Given the description of an element on the screen output the (x, y) to click on. 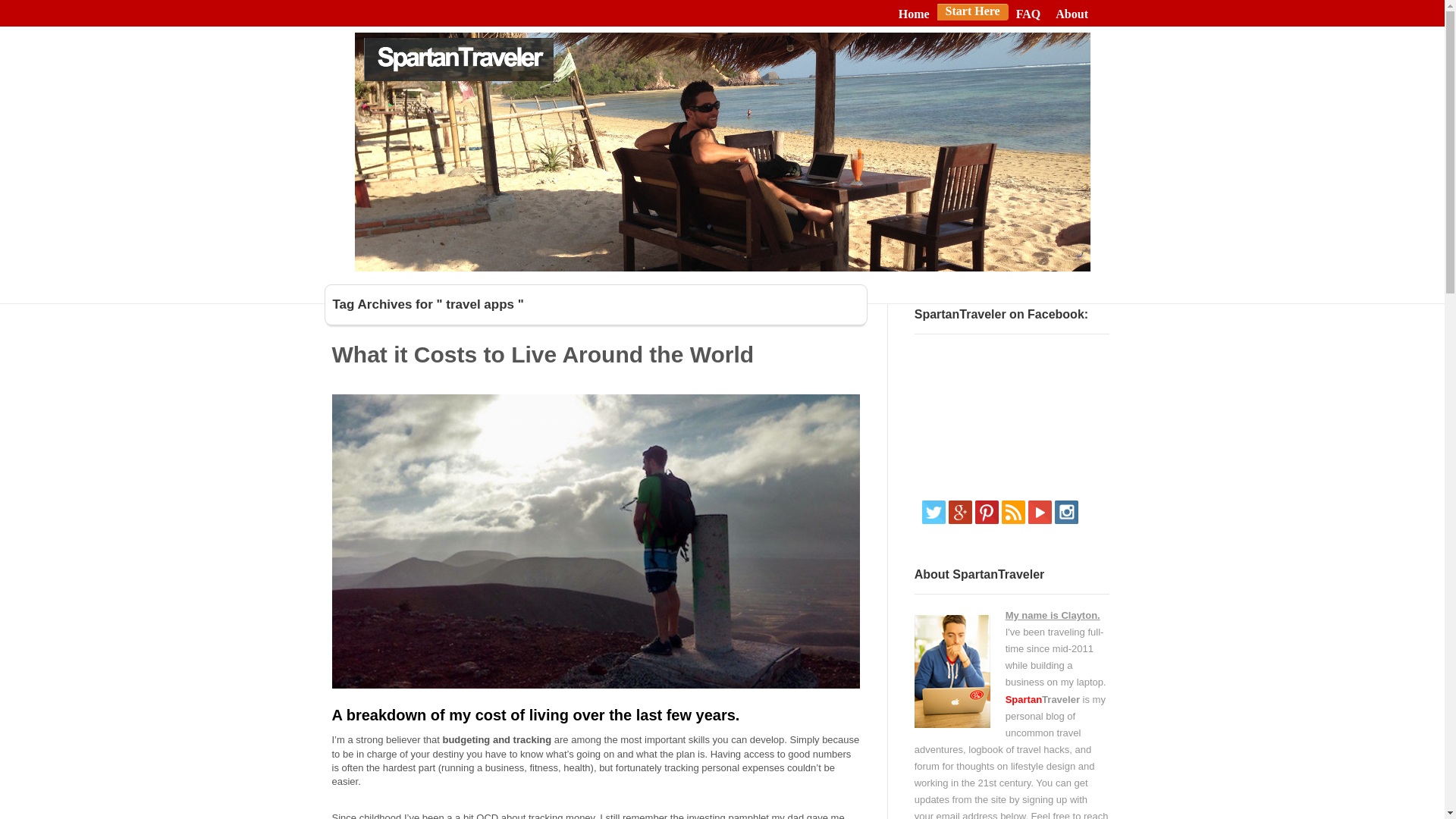
Home (914, 14)
What it Costs to Live Around the World (542, 354)
Start Here (972, 11)
FAQ (1028, 14)
About (1071, 14)
